Given the description of an element on the screen output the (x, y) to click on. 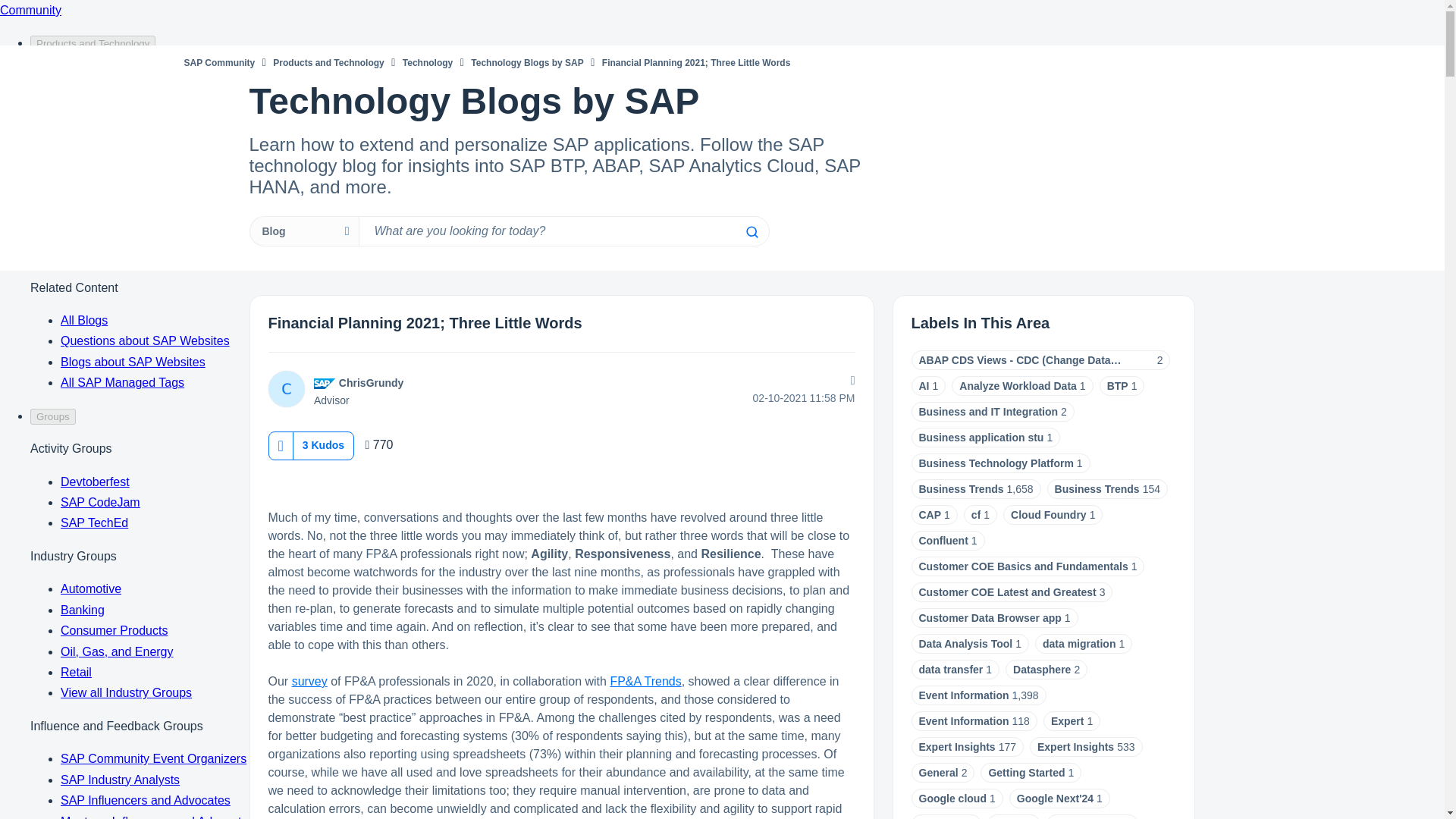
Advisor (325, 383)
SAP Community (218, 62)
Click here to see who gave kudos to this post. (323, 444)
Products and Technology (328, 62)
Technology Blogs by SAP (526, 62)
ChrisGrundy (371, 382)
survey (309, 680)
3 Kudos (323, 444)
Search Granularity (303, 231)
ChrisGrundy (285, 389)
Search (563, 231)
Click here to give kudos to this post. (279, 445)
Search (750, 232)
Posted on (757, 398)
Financial Planning 2021; Three Little Words (424, 322)
